Given the description of an element on the screen output the (x, y) to click on. 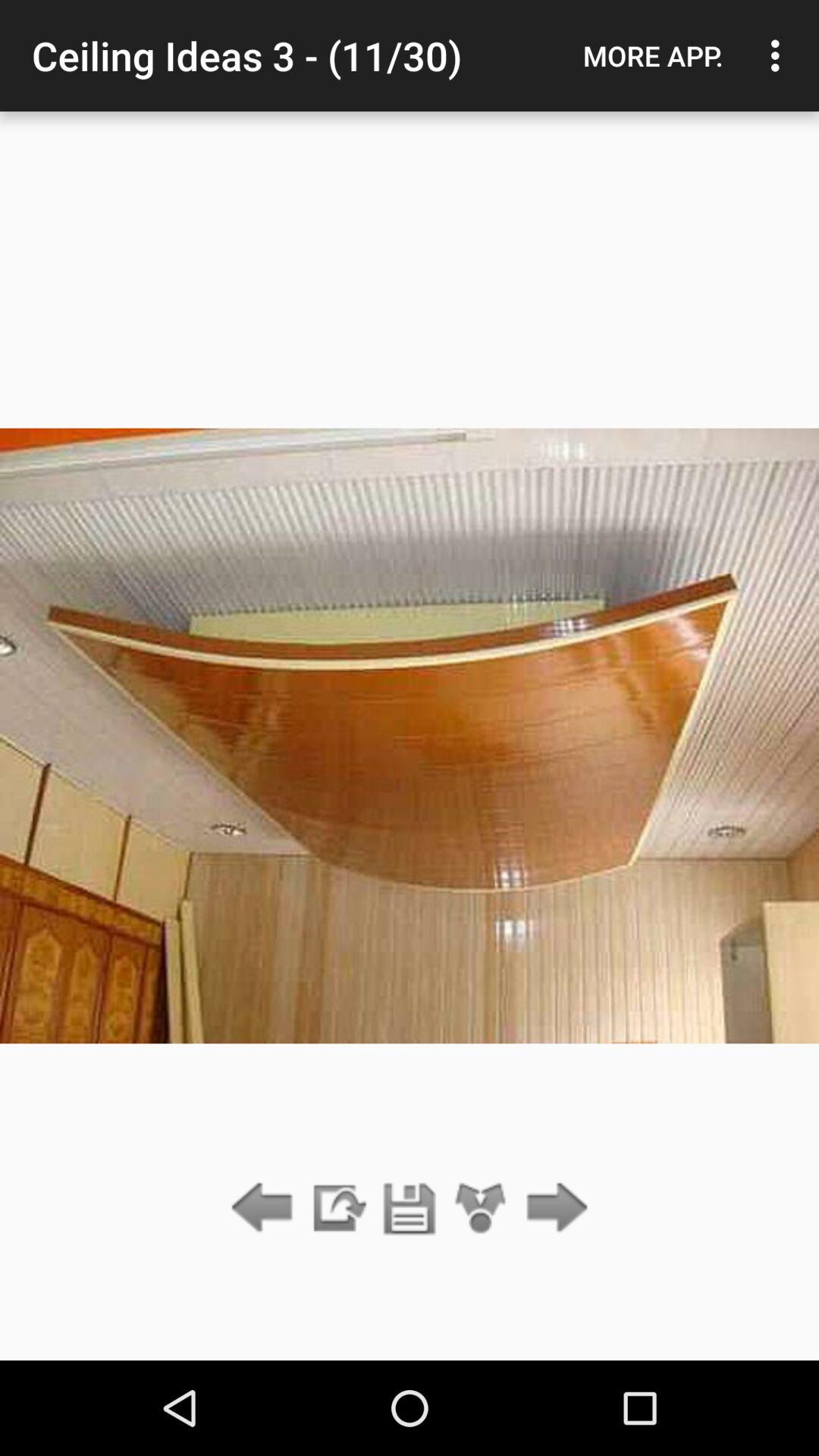
turn on the icon at the bottom right corner (552, 1209)
